Given the description of an element on the screen output the (x, y) to click on. 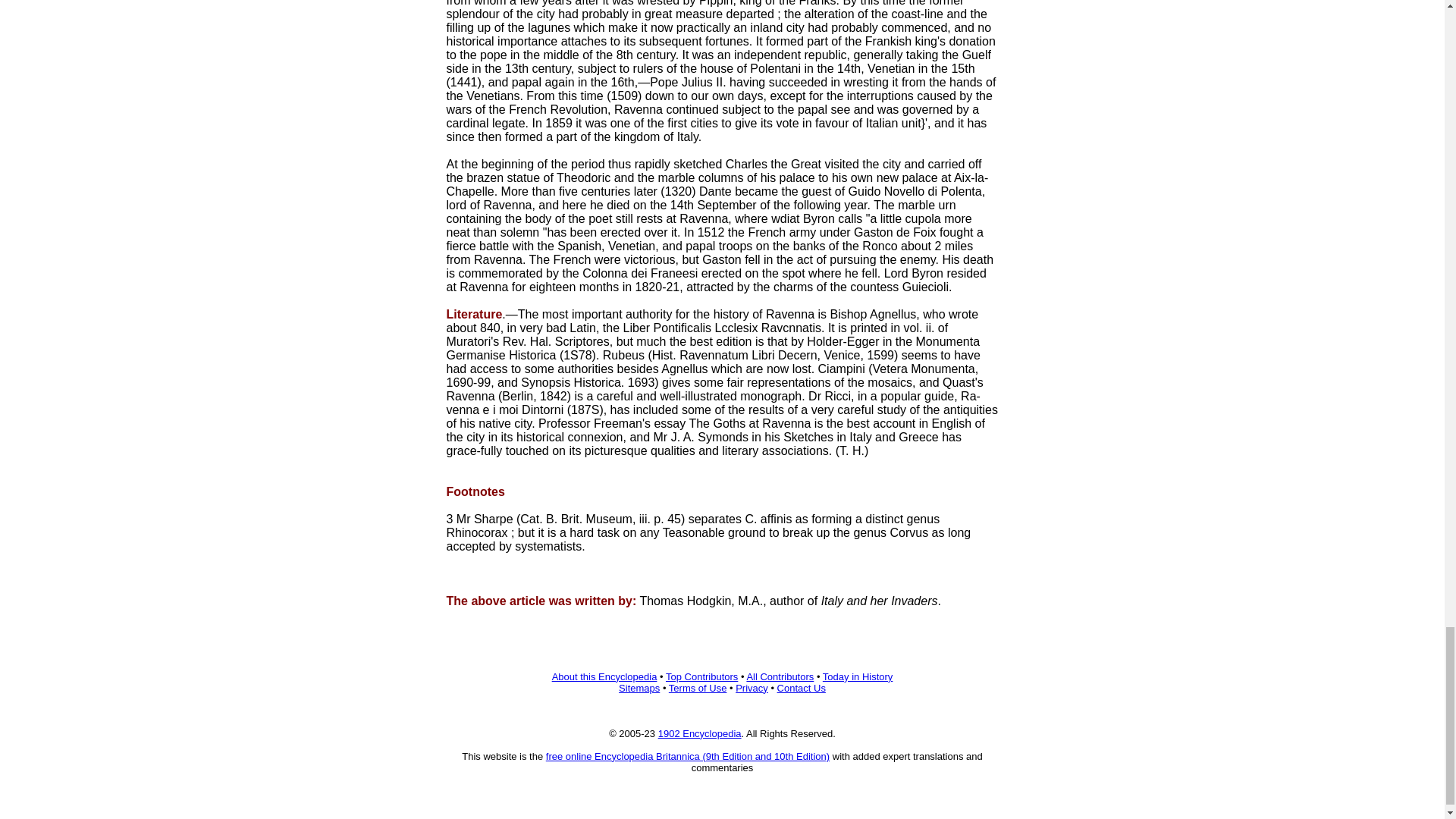
Privacy (751, 687)
Today in History (857, 676)
About this Encyclopedia (604, 676)
Contact Us (801, 687)
Terms of Use (697, 687)
Top Contributors (701, 676)
1902 Encyclopedia (699, 733)
Sitemaps (638, 687)
All Contributors (779, 676)
